Given the description of an element on the screen output the (x, y) to click on. 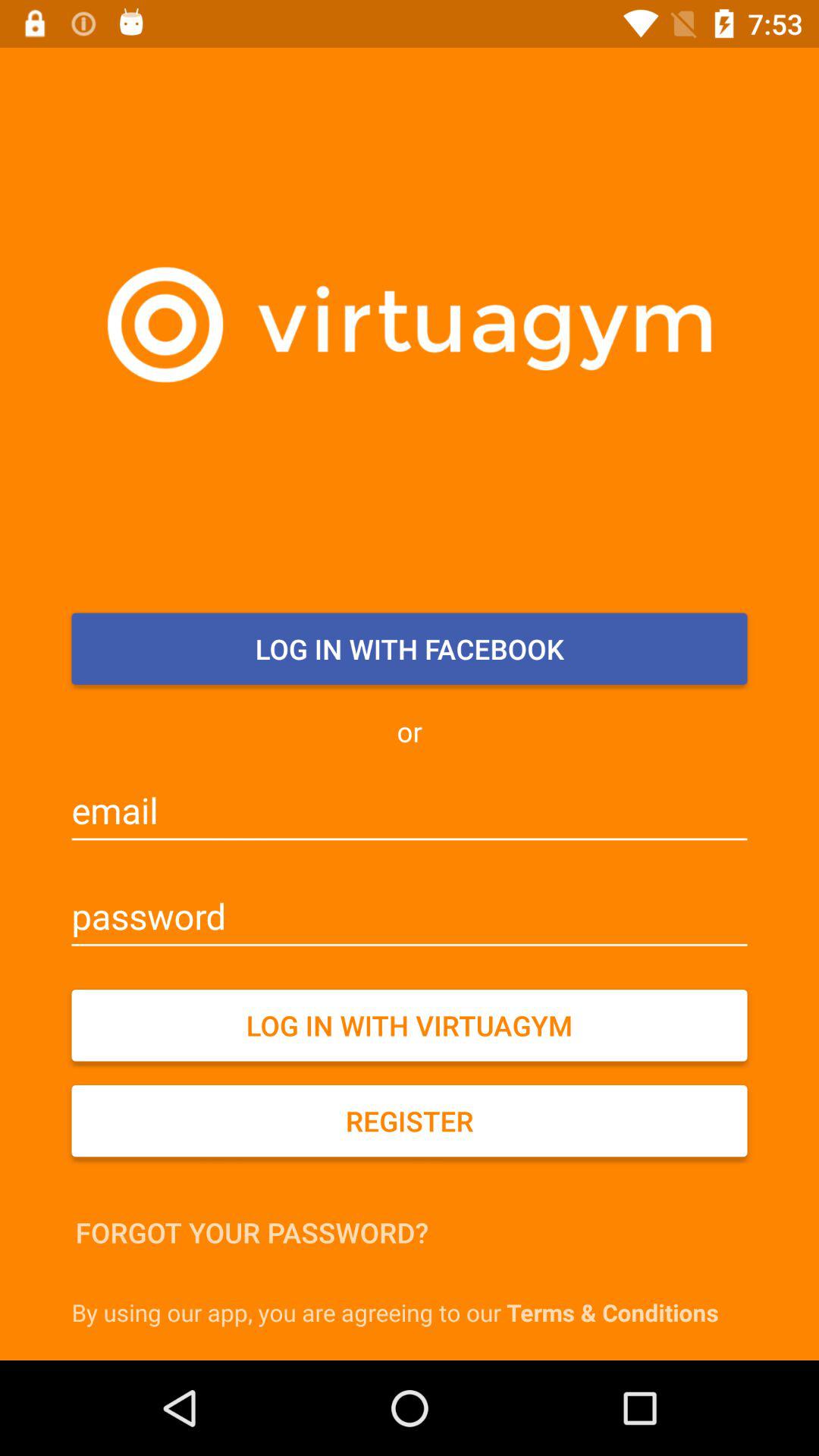
swipe to by using our icon (413, 1312)
